Given the description of an element on the screen output the (x, y) to click on. 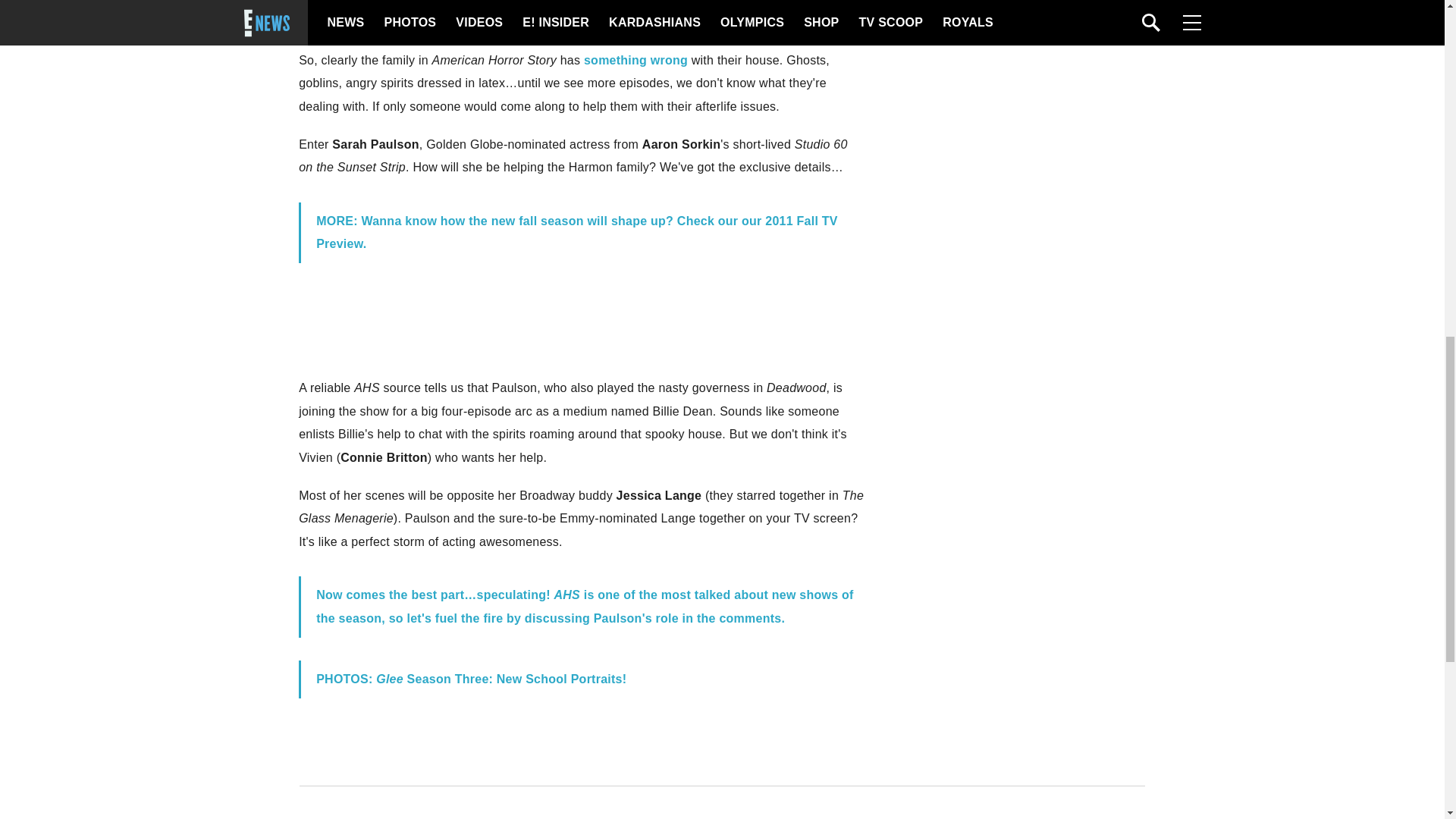
PHOTOS: Glee Season Three: New School Portraits! (470, 678)
something wrong (635, 60)
talked about (731, 594)
